Given the description of an element on the screen output the (x, y) to click on. 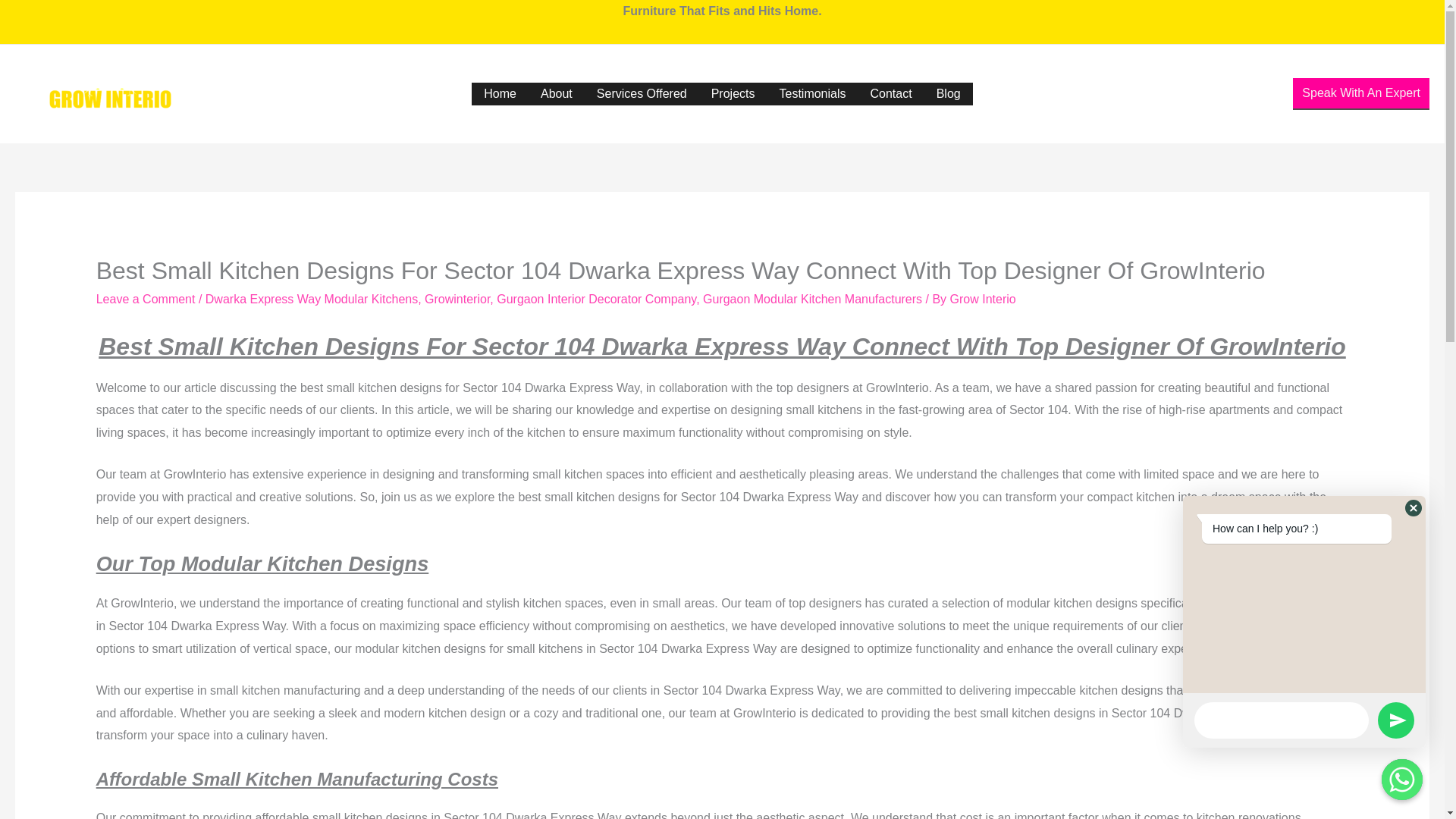
Contact (891, 93)
Projects (732, 93)
Dwarka Express Way Modular Kitchens (311, 298)
Grow Interio (983, 298)
Leave a Comment (145, 298)
Growinterior (457, 298)
Gurgaon Modular Kitchen Manufacturers (812, 298)
Speak With An Expert (1360, 93)
Testimonials (812, 93)
Blog (948, 93)
Gurgaon Interior Decorator Company (595, 298)
View all posts by Grow Interio (983, 298)
Services Offered (641, 93)
About (556, 93)
Home (499, 93)
